Given the description of an element on the screen output the (x, y) to click on. 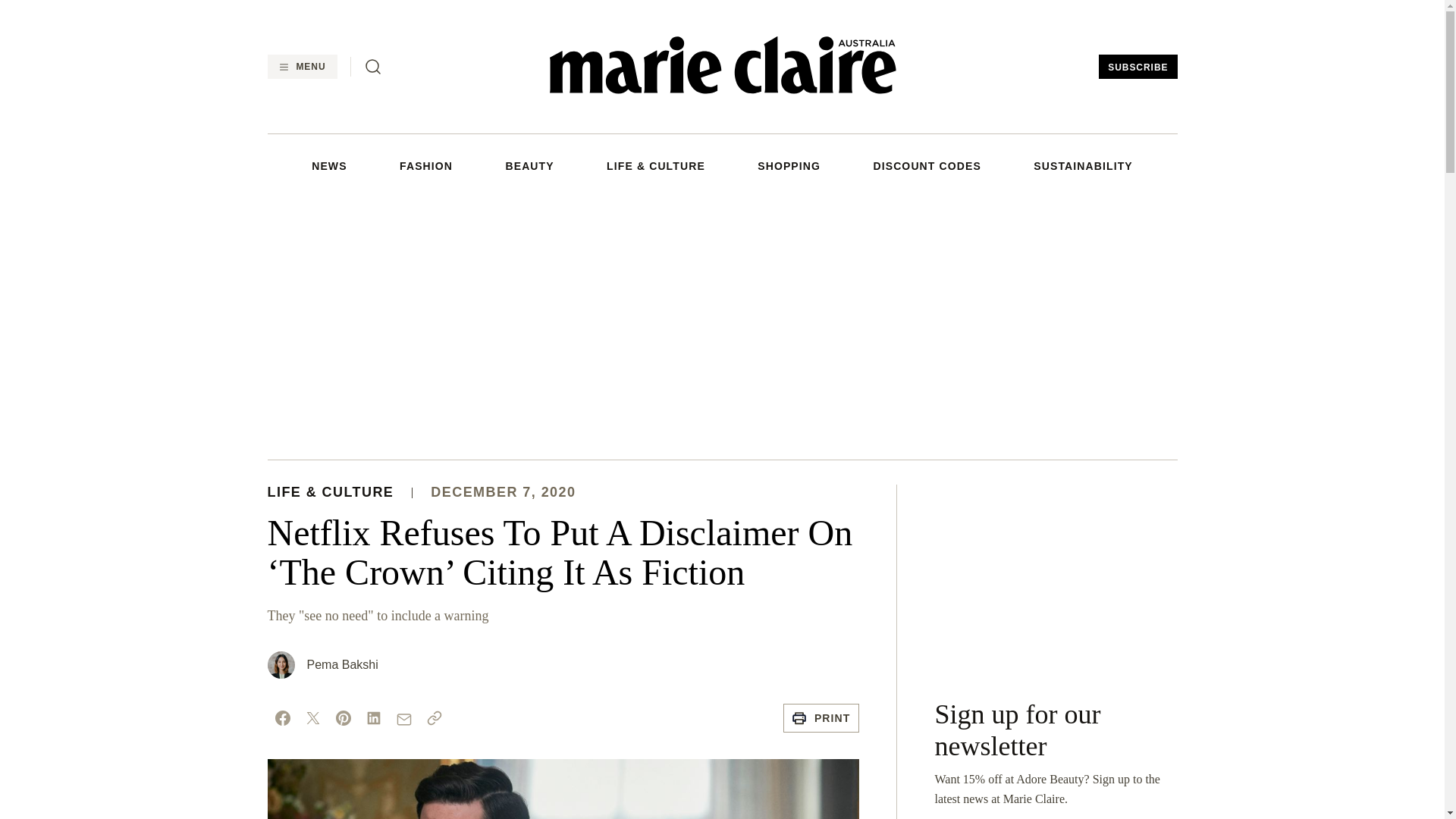
SUSTAINABILITY (1082, 165)
3rd party ad content (1055, 579)
SUBSCRIBE (1137, 66)
SHOPPING (789, 165)
3rd party ad content (721, 325)
NEWS (328, 165)
FASHION (425, 165)
MENU (301, 66)
BEAUTY (529, 165)
DISCOUNT CODES (925, 165)
